Given the description of an element on the screen output the (x, y) to click on. 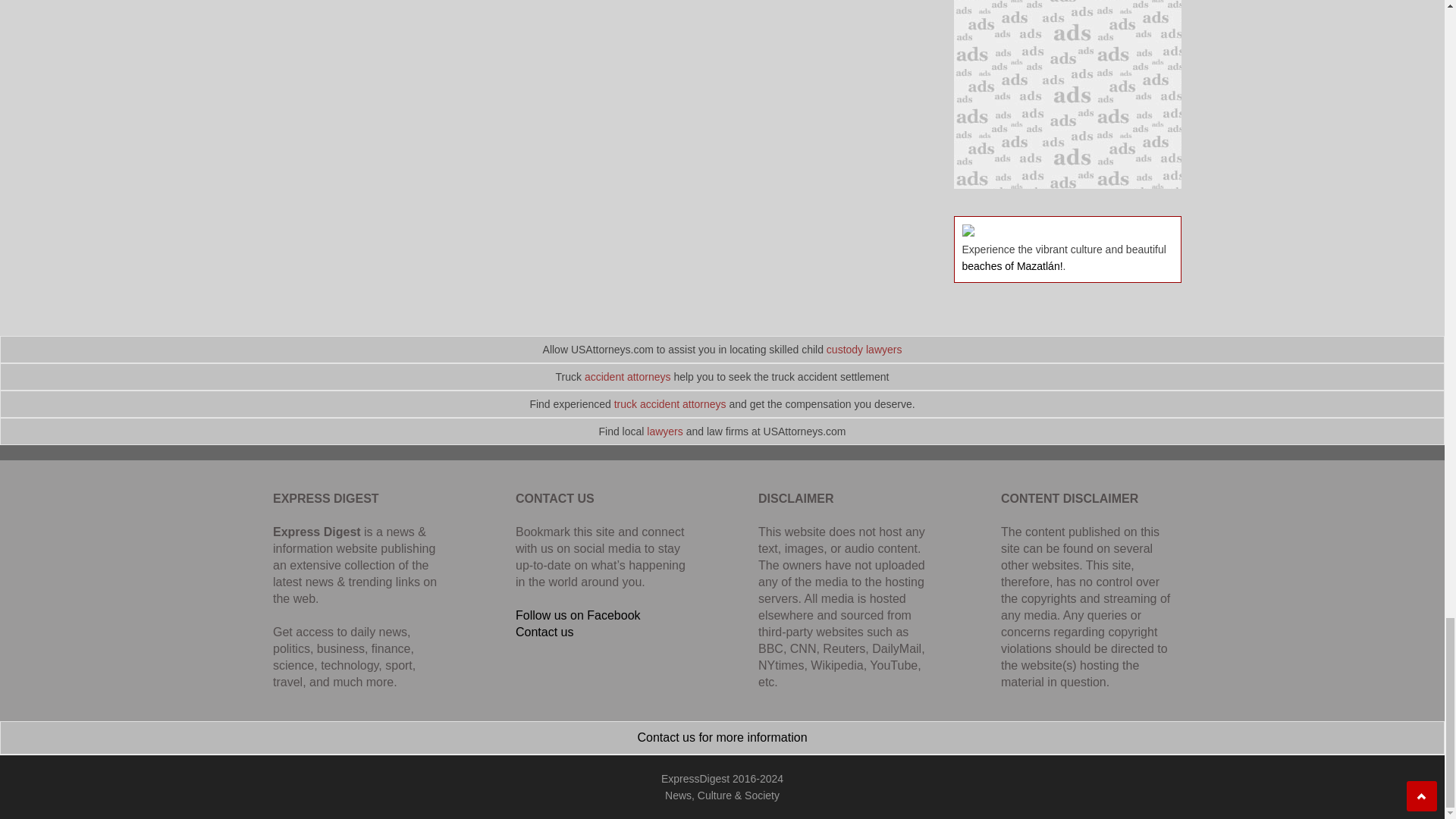
custody lawyers (864, 349)
truck accident attorneys (670, 404)
lawyers (664, 431)
accident attorneys (628, 377)
